Given the description of an element on the screen output the (x, y) to click on. 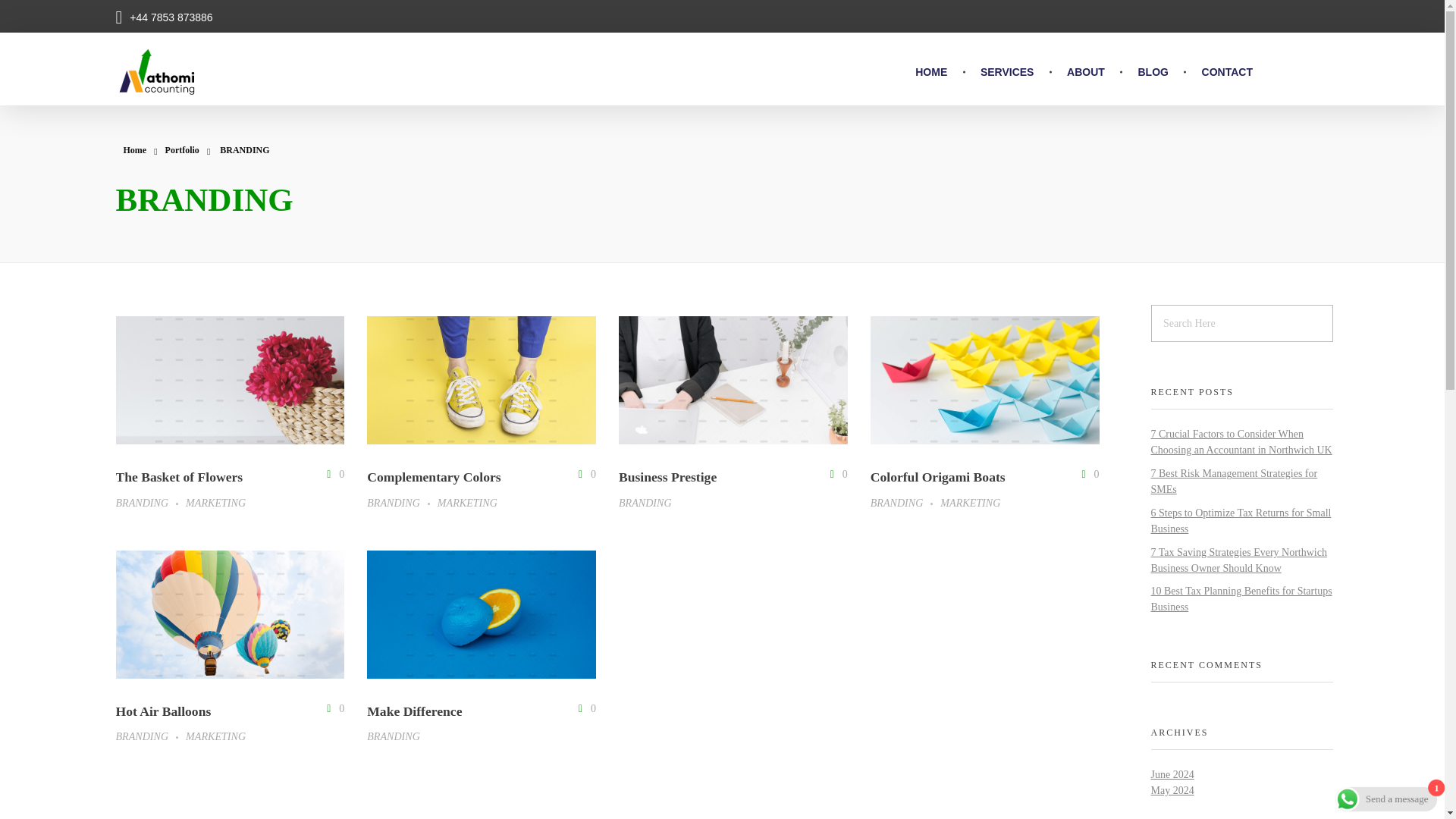
MARKETING (216, 503)
Portfolio (182, 149)
Home (134, 149)
Complementary Colors (433, 476)
Portfolio (182, 149)
Hot Air Balloons (163, 711)
View all posts in BRANDING (393, 736)
BRANDING (393, 736)
Nathomi Accounting (194, 109)
Colorful Origami Boats (938, 476)
Nathomi Accounting (194, 109)
View all posts in BRANDING (402, 503)
BRANDING (150, 736)
View all posts in MARKETING (467, 503)
